Given the description of an element on the screen output the (x, y) to click on. 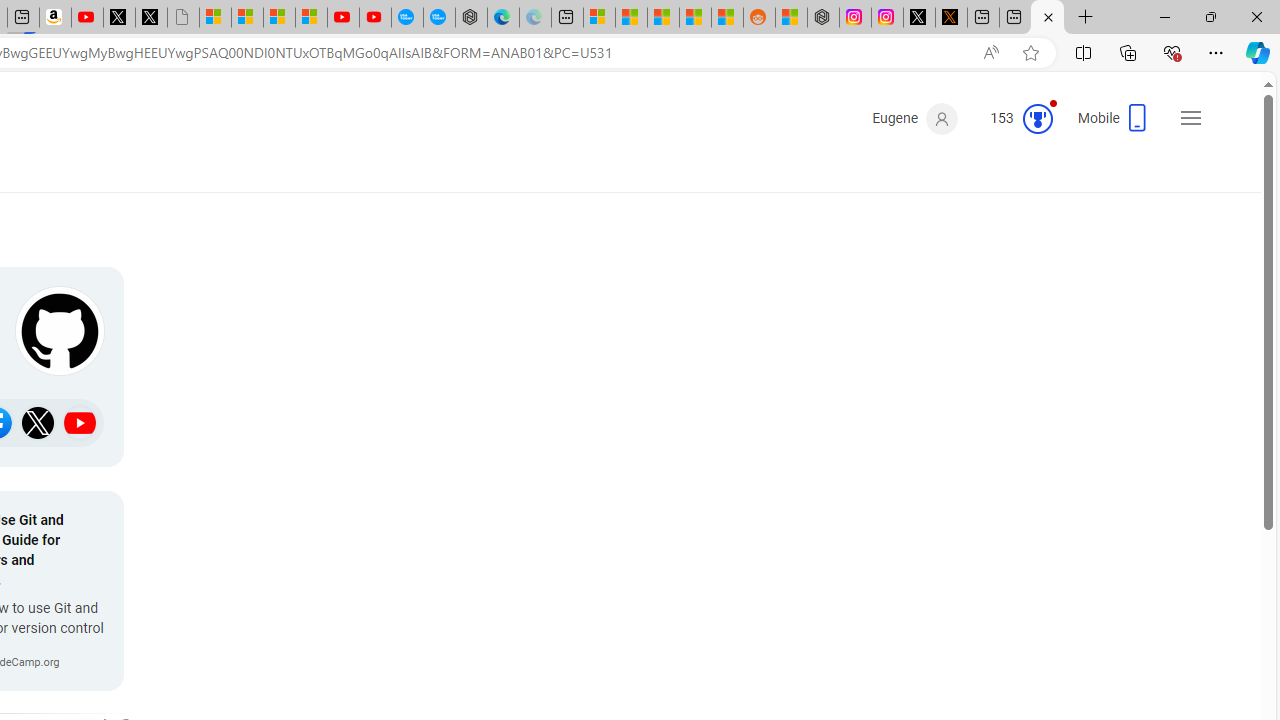
help.x.com | 524: A timeout occurred (950, 17)
Eugene (914, 119)
Untitled (182, 17)
github - Search (1047, 17)
Microsoft account | Microsoft Account Privacy Settings (599, 17)
Shanghai, China hourly forecast | Microsoft Weather (663, 17)
Shanghai, China Weather trends | Microsoft Weather (727, 17)
